Given the description of an element on the screen output the (x, y) to click on. 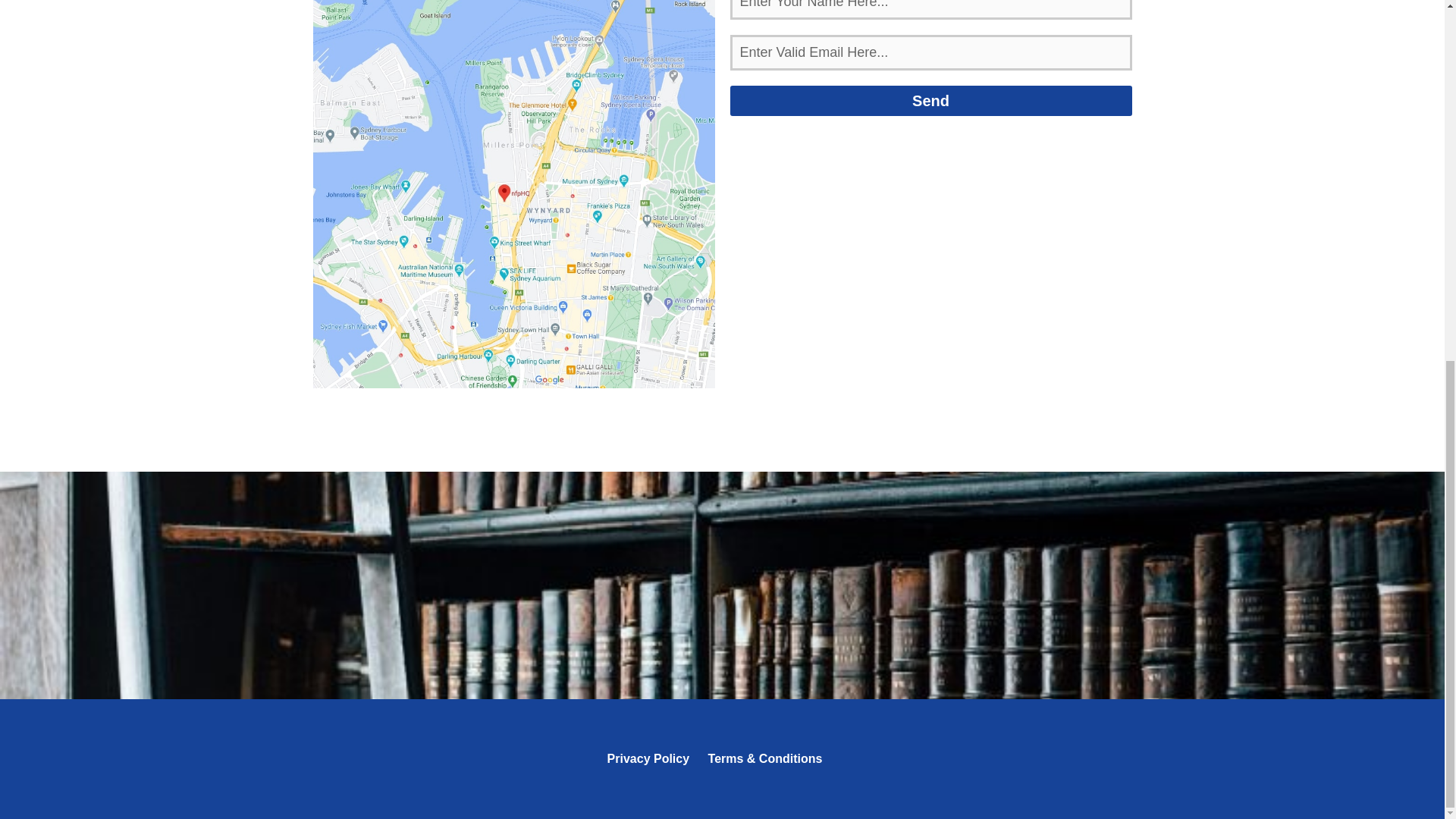
Enter Valid Email Here... (930, 52)
Enter Your Name Here... (930, 9)
Privacy Policy (648, 758)
Send (930, 100)
